Given the description of an element on the screen output the (x, y) to click on. 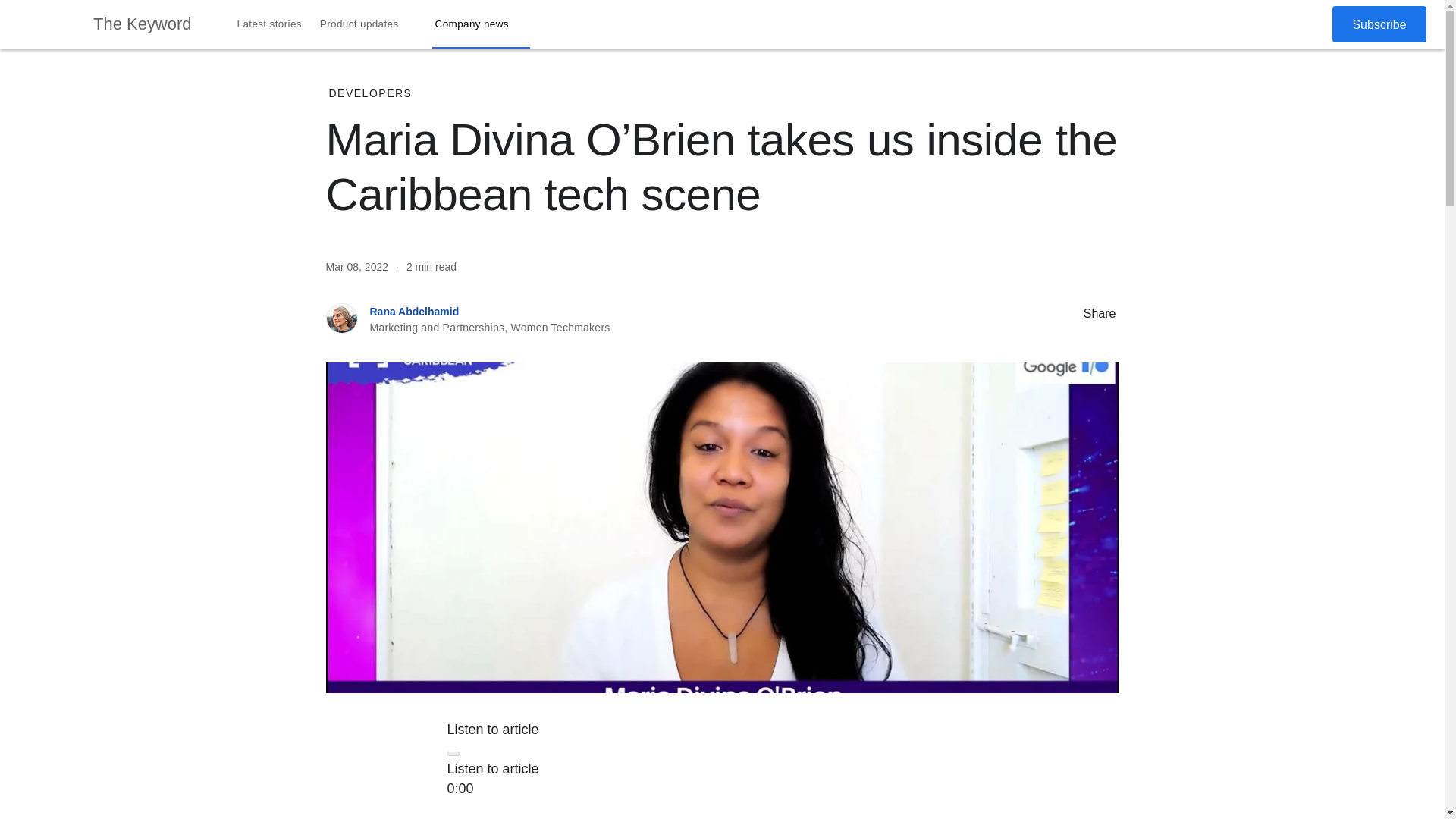
The Keyword (142, 24)
Search (1274, 23)
Secondary menu (1307, 23)
Share (1068, 313)
Google (46, 24)
Latest stories (269, 24)
Product updates (368, 24)
